Given the description of an element on the screen output the (x, y) to click on. 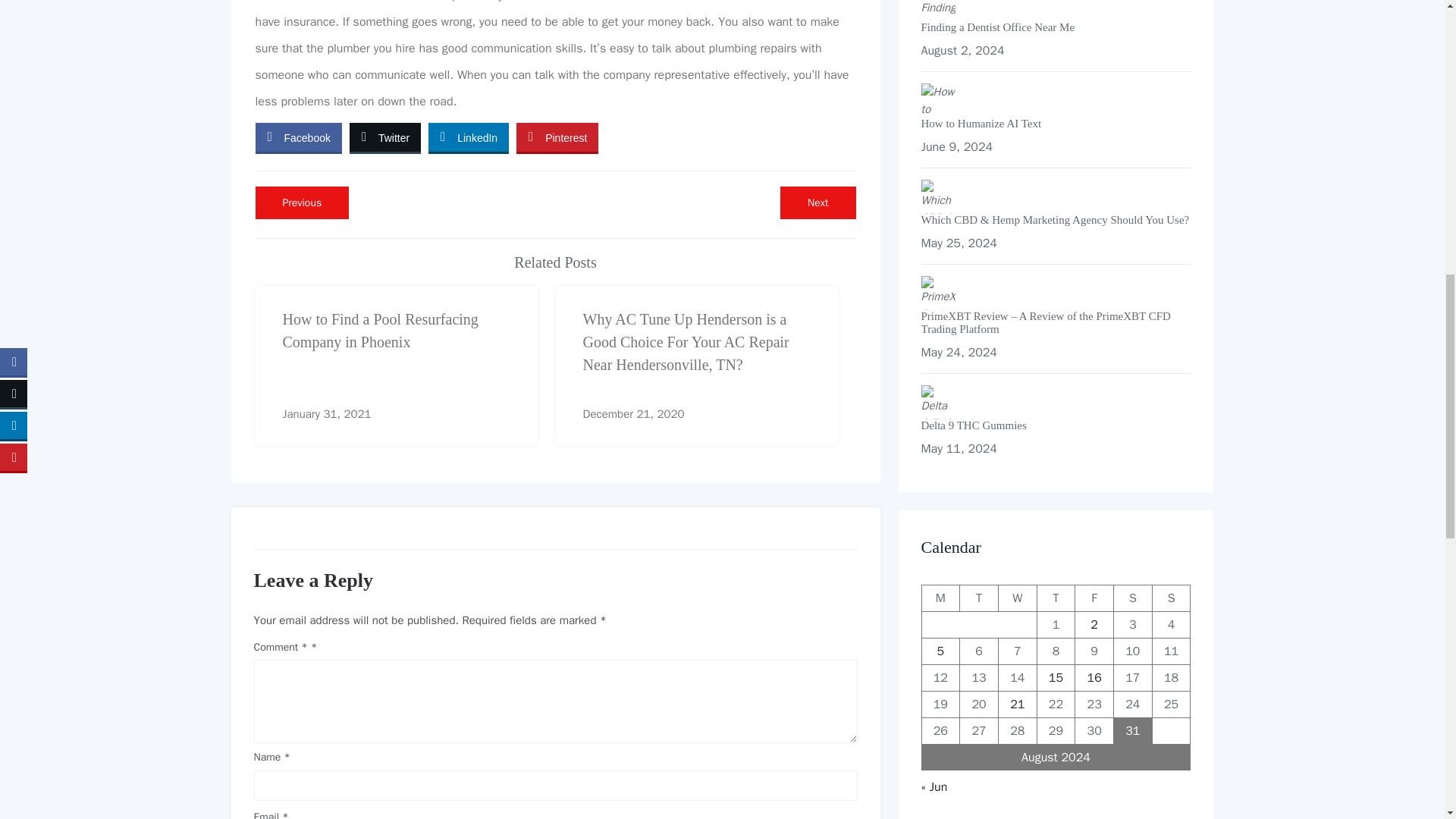
Facebook (297, 136)
LinkedIn (468, 136)
Twitter (384, 136)
Tuesday (978, 597)
How to Humanize AI Text (1055, 123)
Thursday (818, 202)
Sunday (1055, 597)
Finding a Dentist Office Near Me (1171, 597)
